Given the description of an element on the screen output the (x, y) to click on. 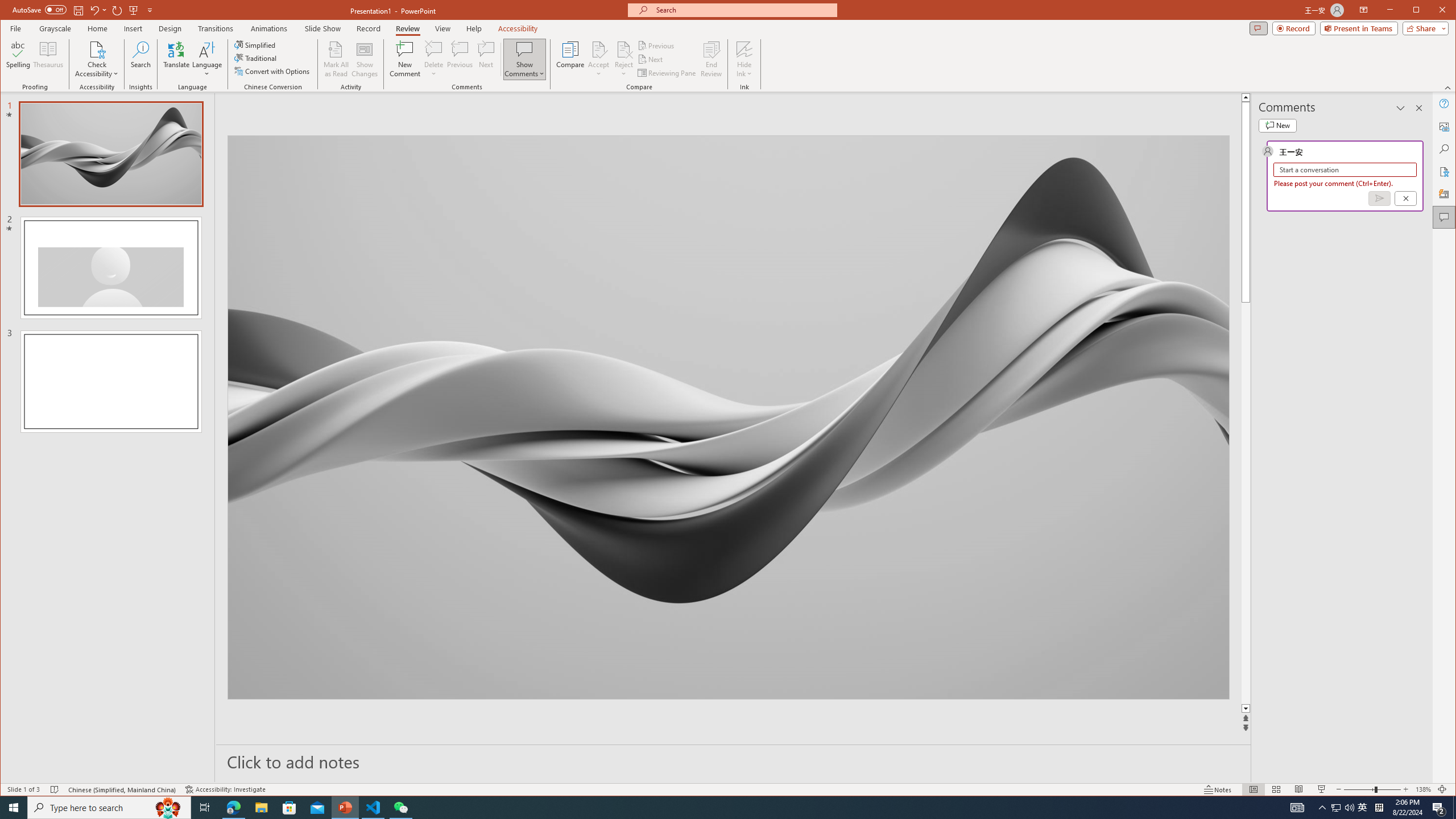
Compare (569, 59)
Next (651, 59)
